Given the description of an element on the screen output the (x, y) to click on. 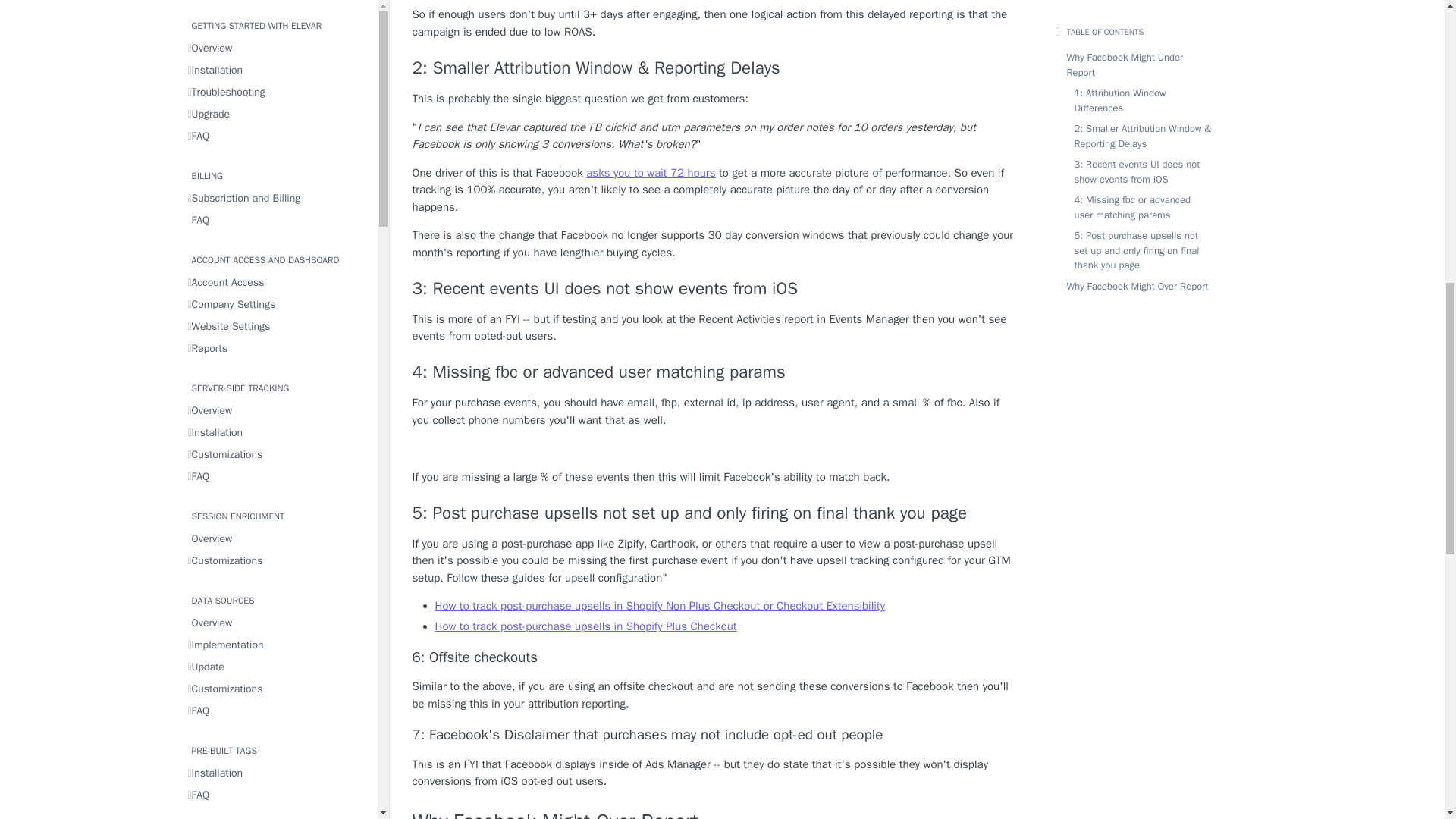
3: Recent events UI does not show events from iOS (715, 288)
Why Facebook Might Over Report (715, 814)
6: Offsite checkouts (715, 657)
4: Missing fbc or advanced user matching params (715, 372)
